Given the description of an element on the screen output the (x, y) to click on. 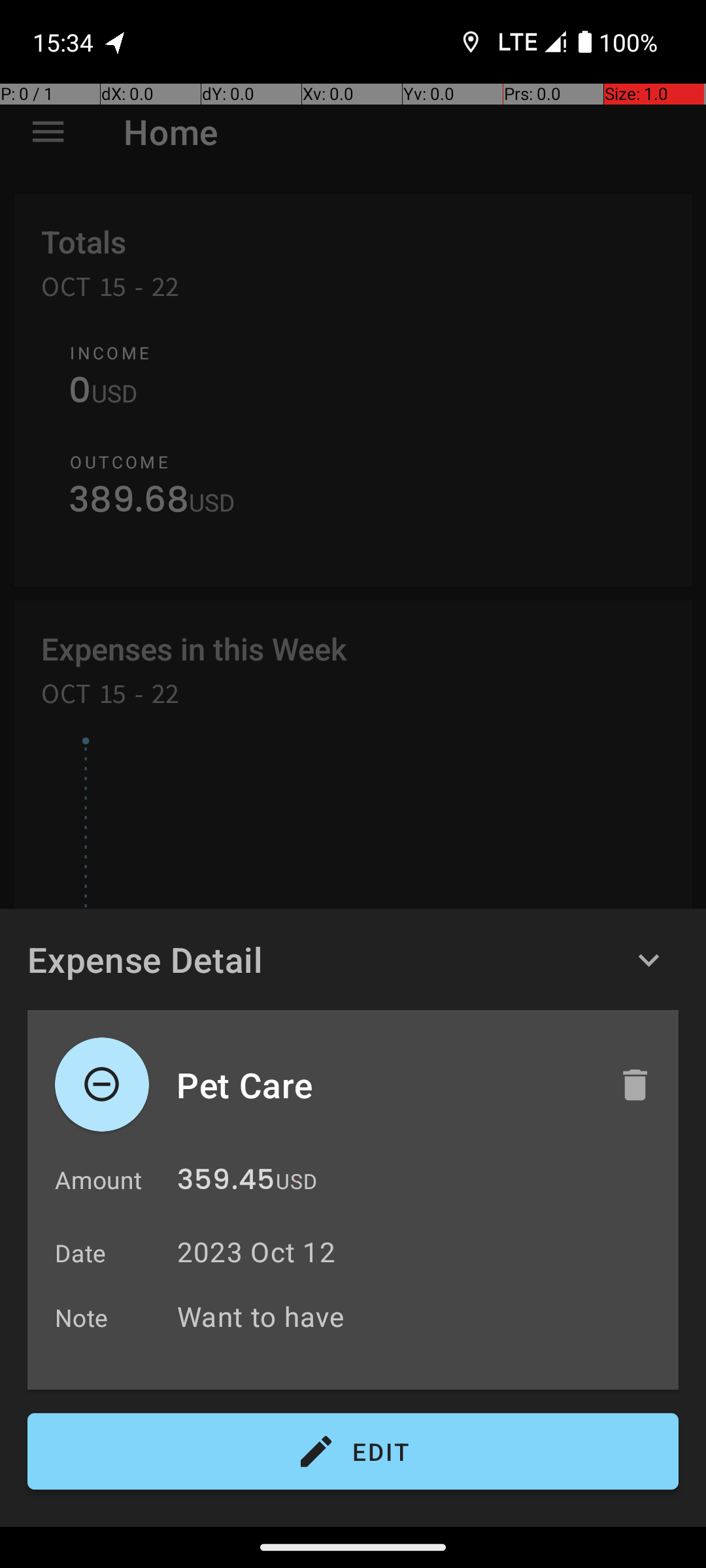
Pet Care Element type: android.widget.TextView (383, 1084)
359.45 Element type: android.widget.TextView (225, 1182)
Want to have Element type: android.widget.TextView (420, 1315)
OpenTracks notification:  Element type: android.widget.ImageView (115, 41)
